Given the description of an element on the screen output the (x, y) to click on. 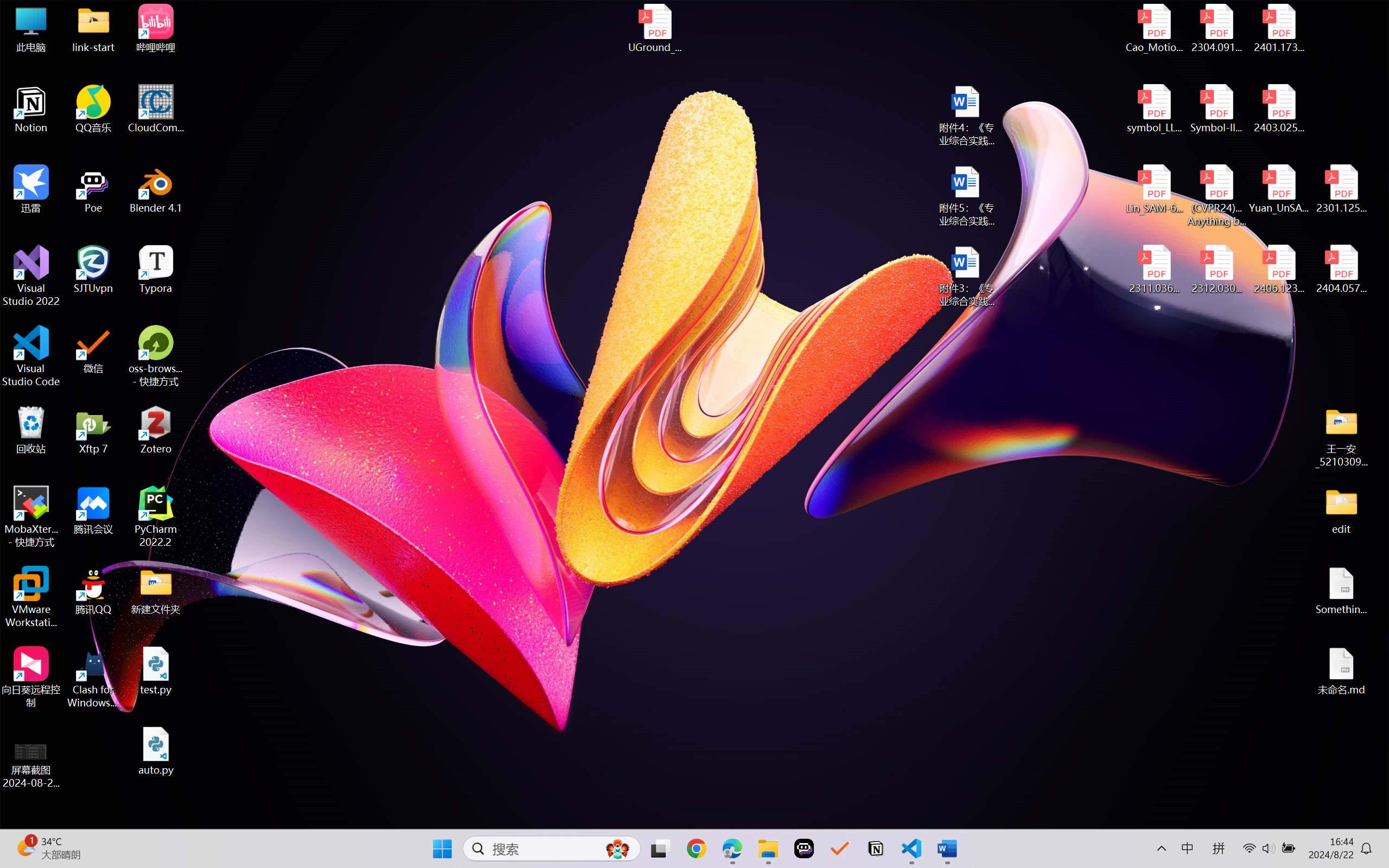
edit (1340, 510)
2406.12373v2.pdf (1278, 269)
Something.md (1340, 591)
Visual Studio 2022 (31, 276)
(CVPR24)Matching Anything by Segmenting Anything.pdf (1216, 195)
